Given the description of an element on the screen output the (x, y) to click on. 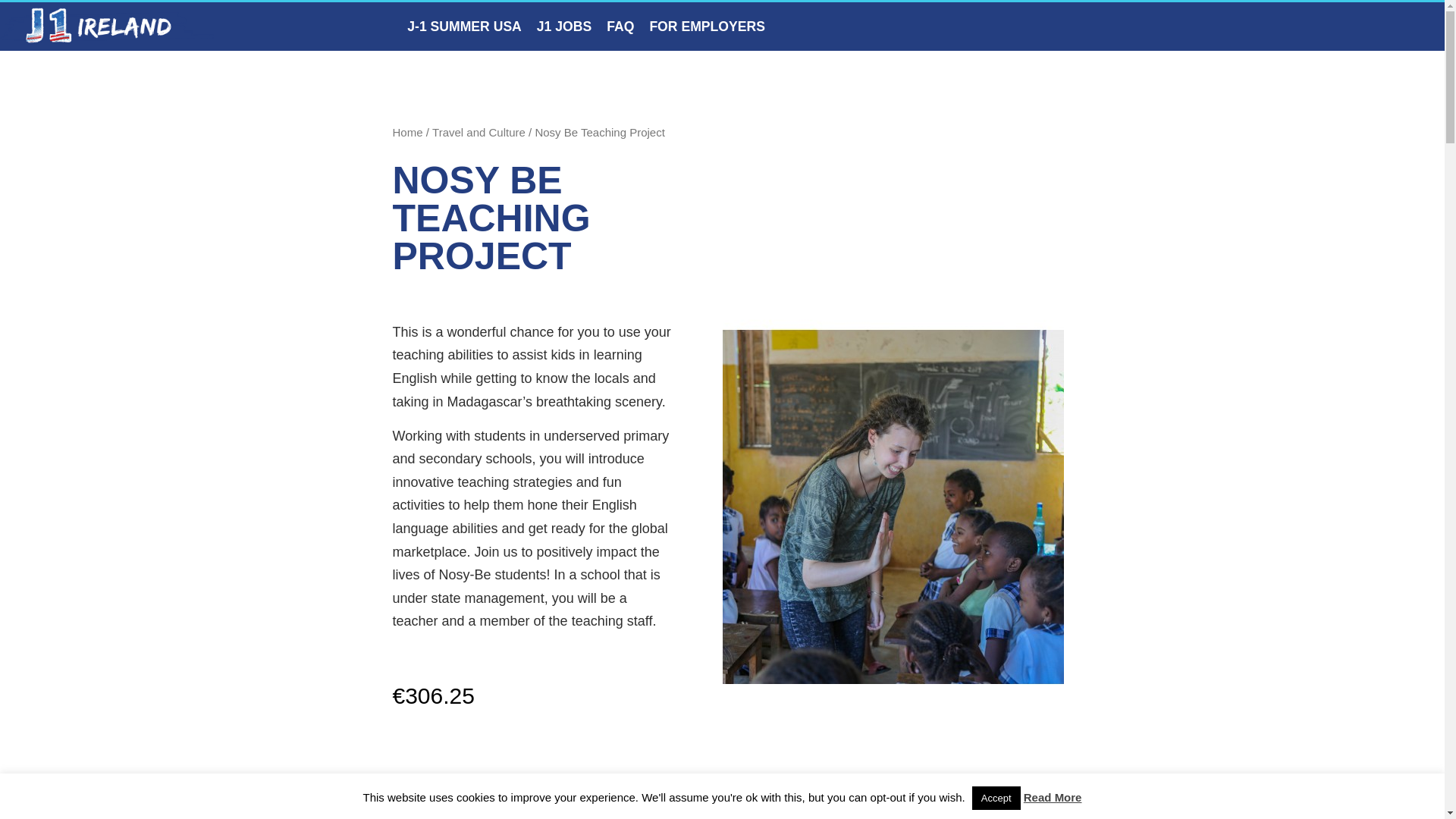
FOR EMPLOYERS (707, 25)
Home (408, 132)
Read More (1052, 797)
J-1 SUMMER USA (463, 25)
Travel and Culture (478, 132)
Accept (996, 797)
J1-Ireland-Logo3 (107, 23)
FAQ (620, 25)
J1 JOBS (563, 25)
